Given the description of an element on the screen output the (x, y) to click on. 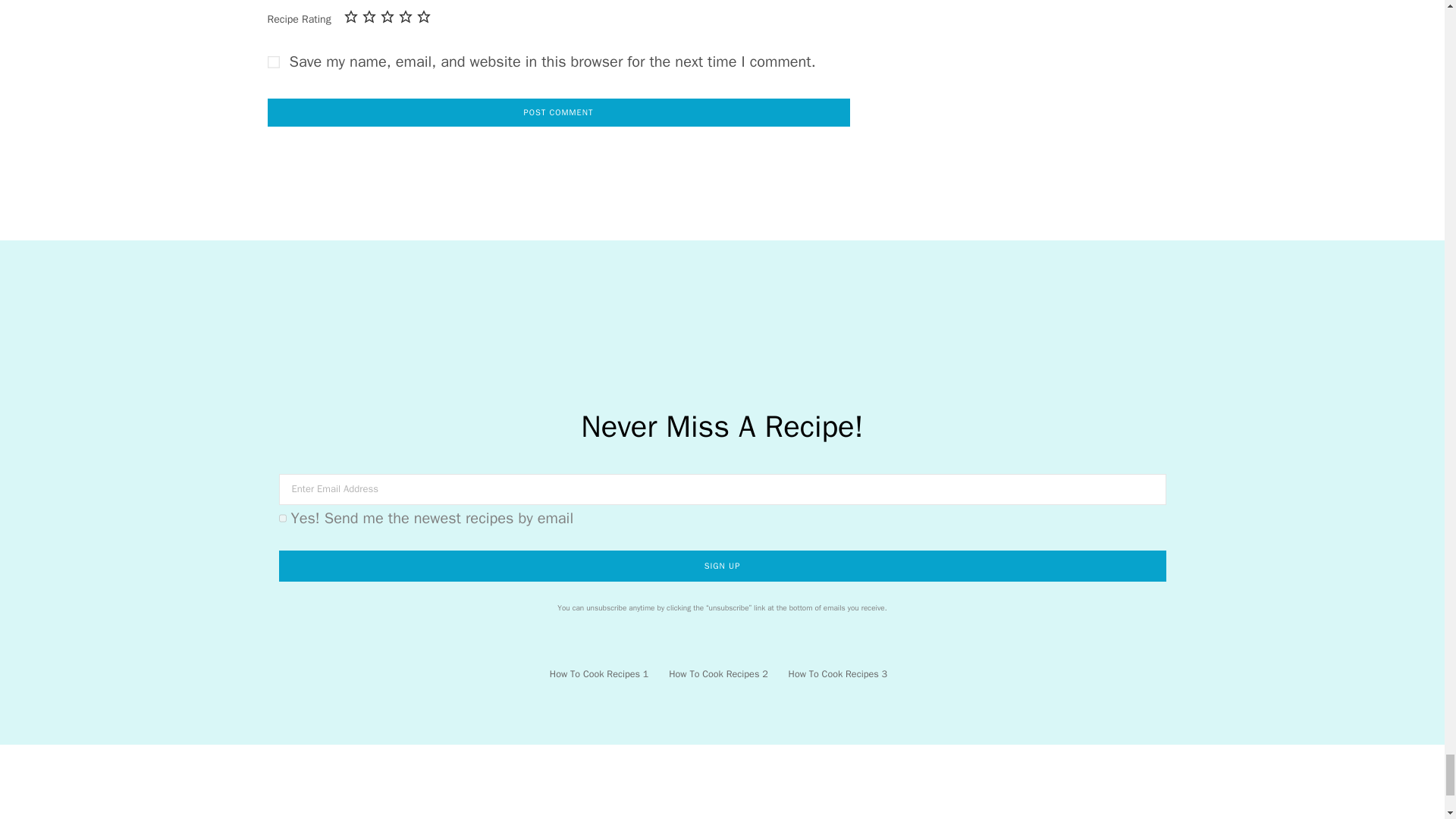
yes (272, 61)
Post Comment (557, 112)
Sign up (722, 565)
